Given the description of an element on the screen output the (x, y) to click on. 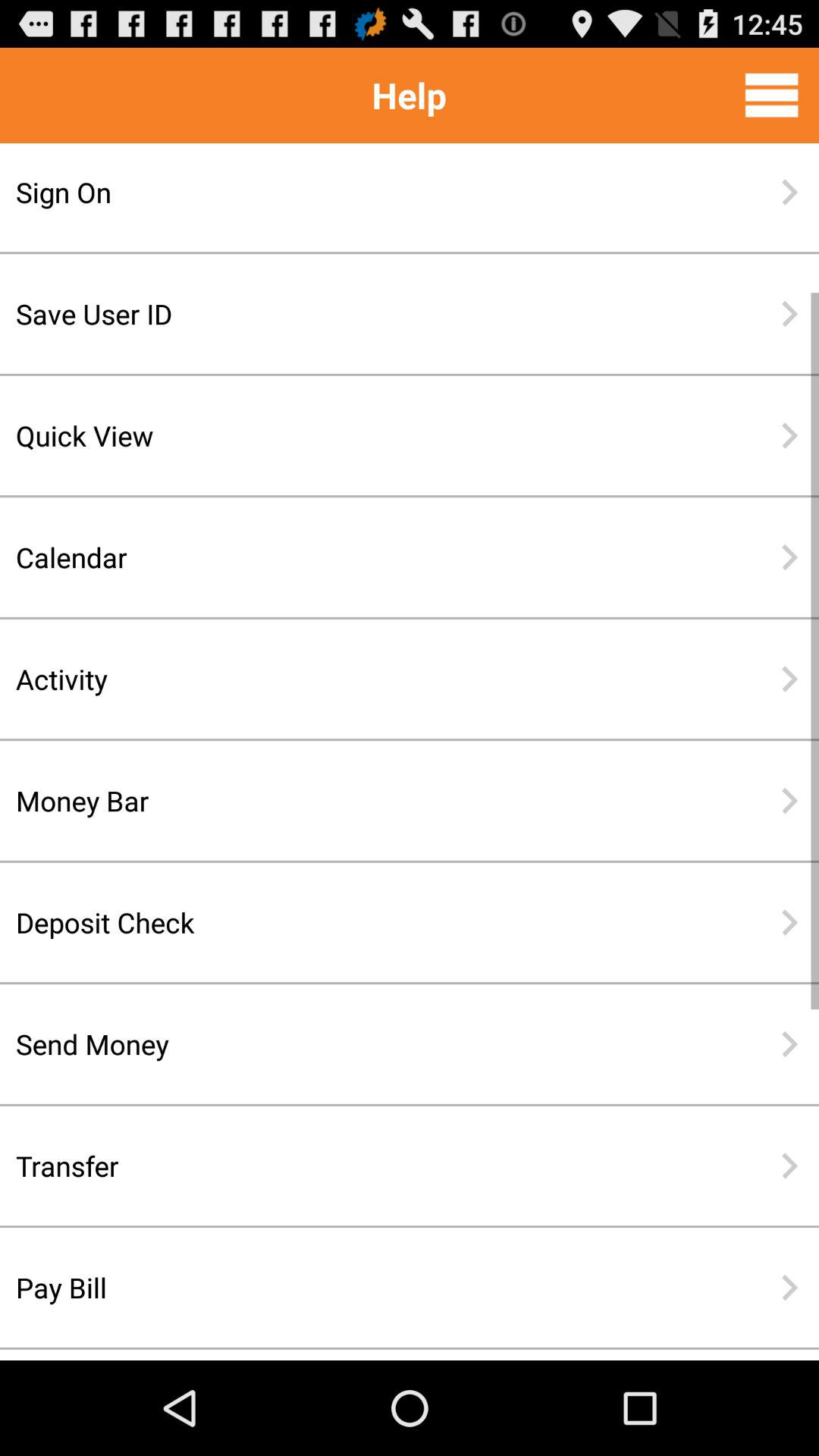
swipe to the save user id item (359, 313)
